Given the description of an element on the screen output the (x, y) to click on. 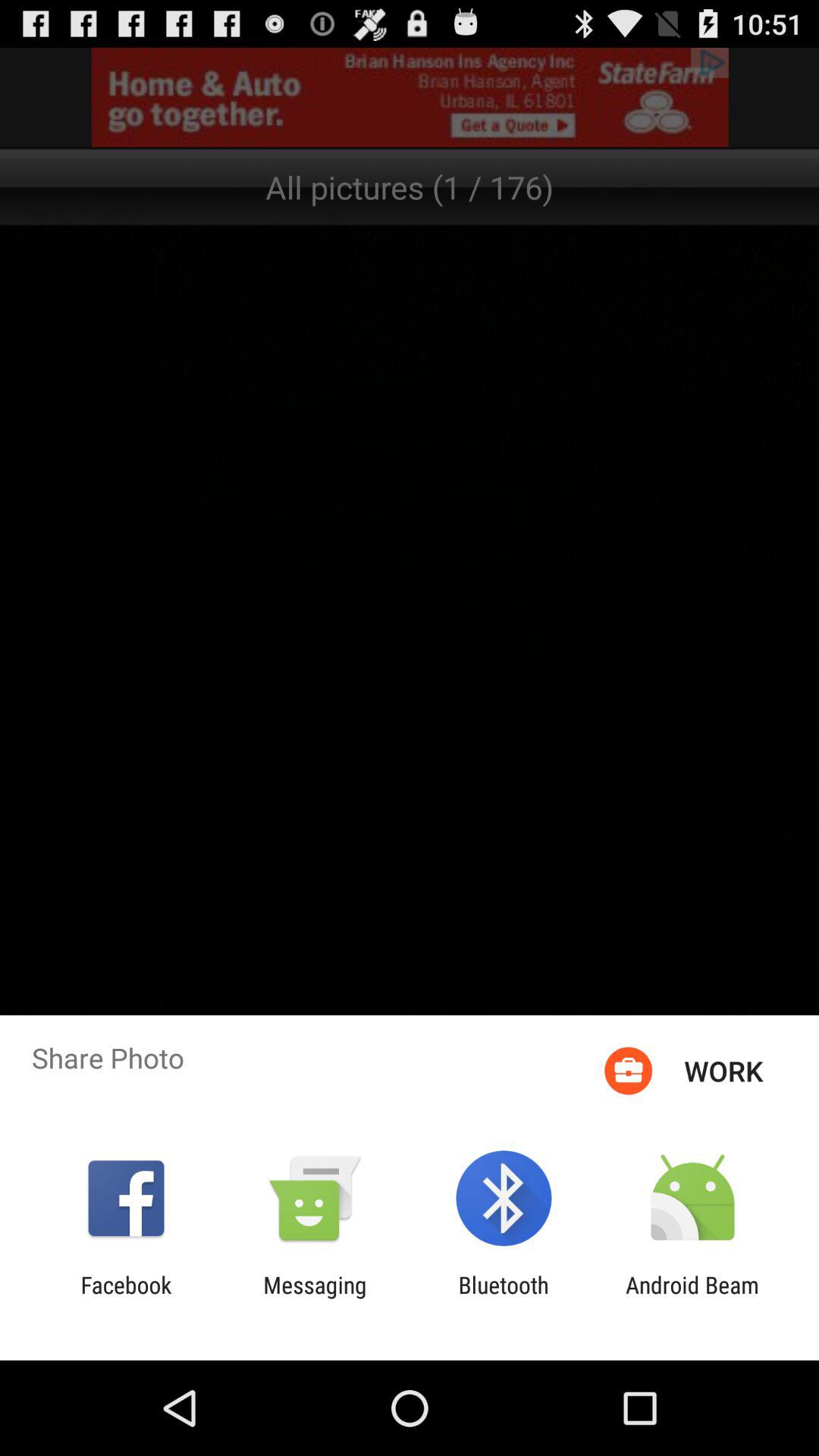
jump until the android beam app (692, 1298)
